Given the description of an element on the screen output the (x, y) to click on. 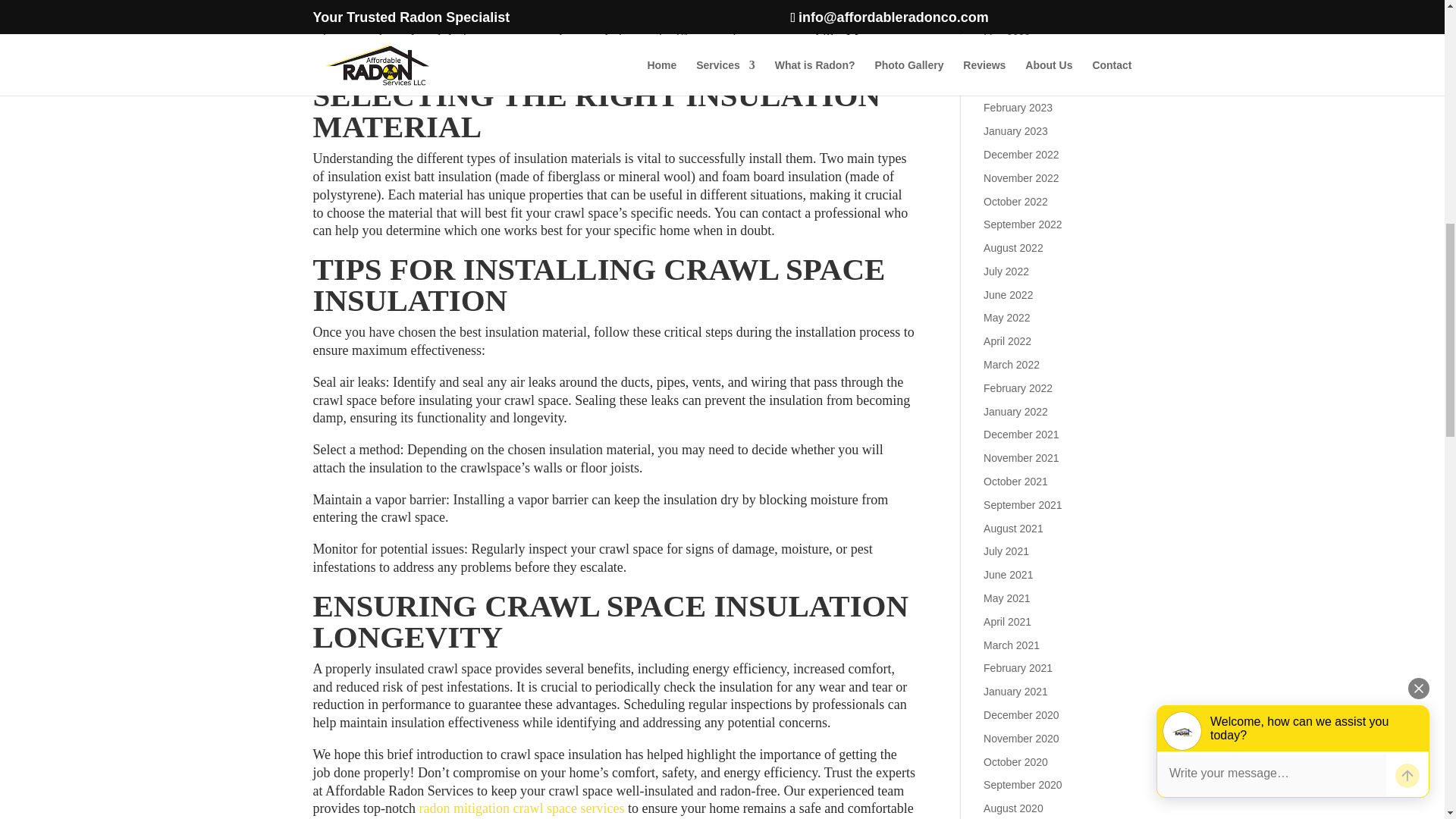
radon mitigation crawl space services (521, 807)
